Given the description of an element on the screen output the (x, y) to click on. 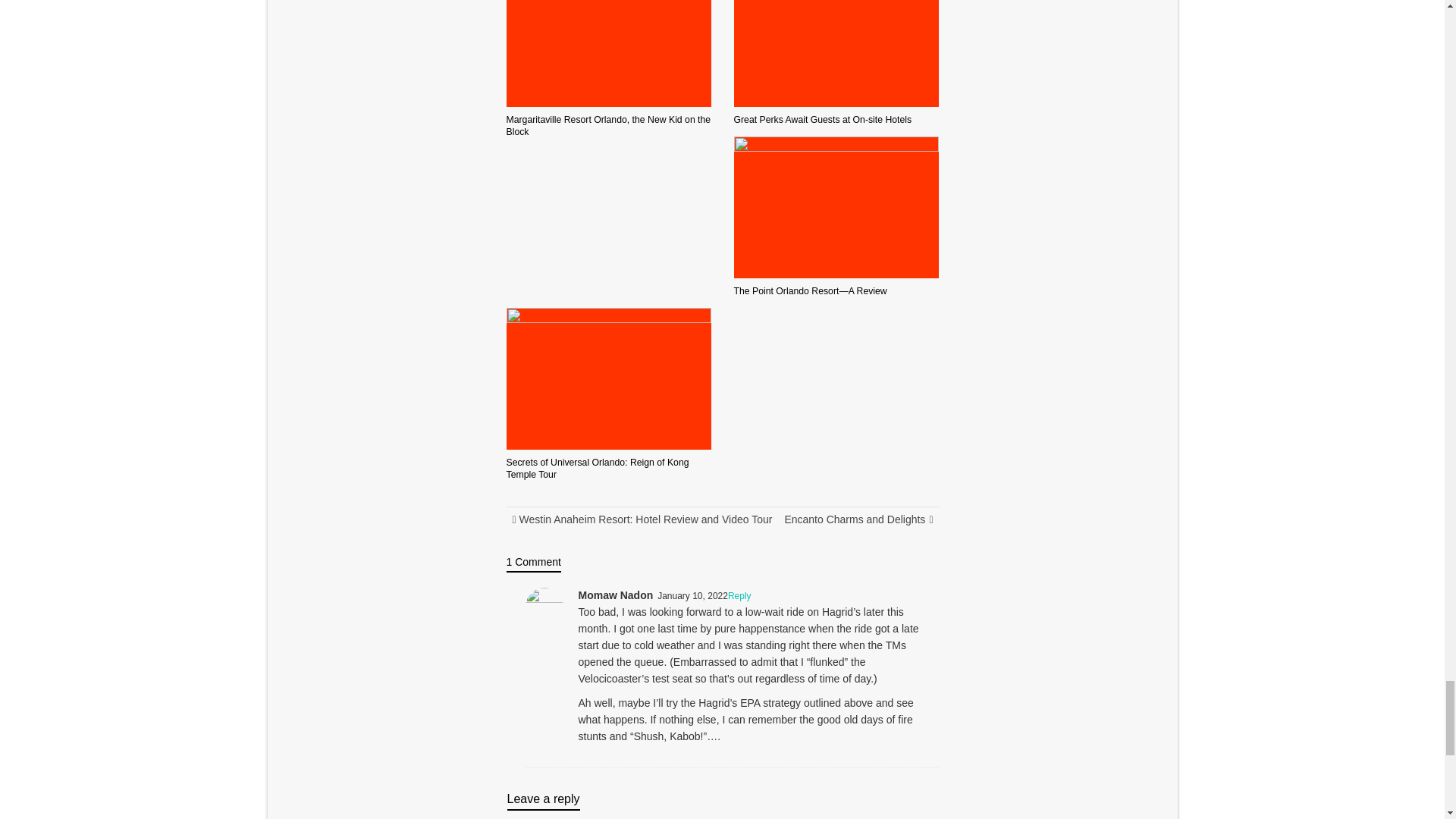
Permanent Link to Great Perks Await Guests at On-site Hotels (822, 119)
